Given the description of an element on the screen output the (x, y) to click on. 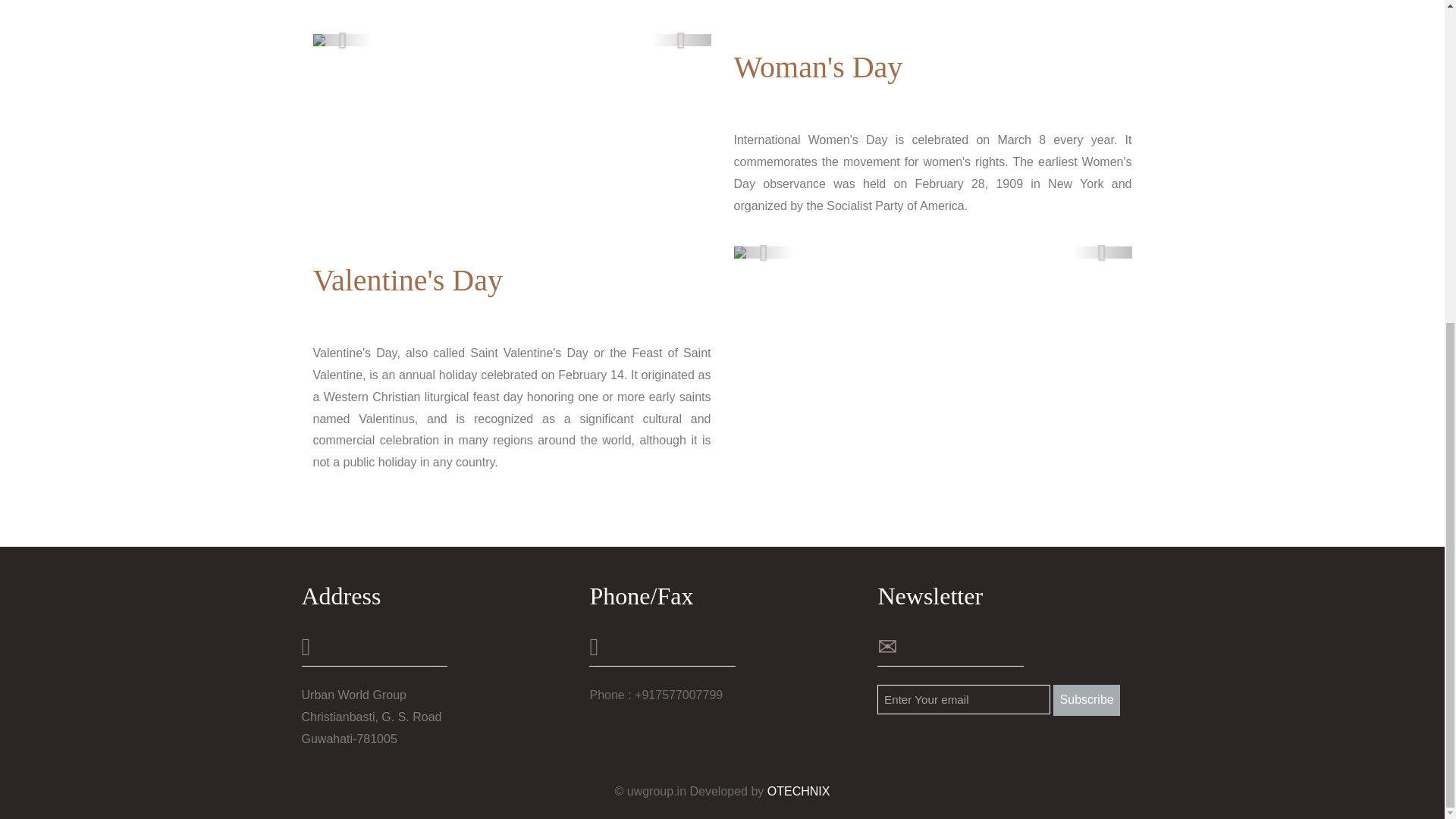
Next (680, 39)
Previous (342, 39)
Enter Your email (963, 699)
Next (1101, 252)
OTECHNIX (798, 790)
Subscribe (1085, 699)
Subscribe (1085, 699)
Previous (763, 252)
